Given the description of an element on the screen output the (x, y) to click on. 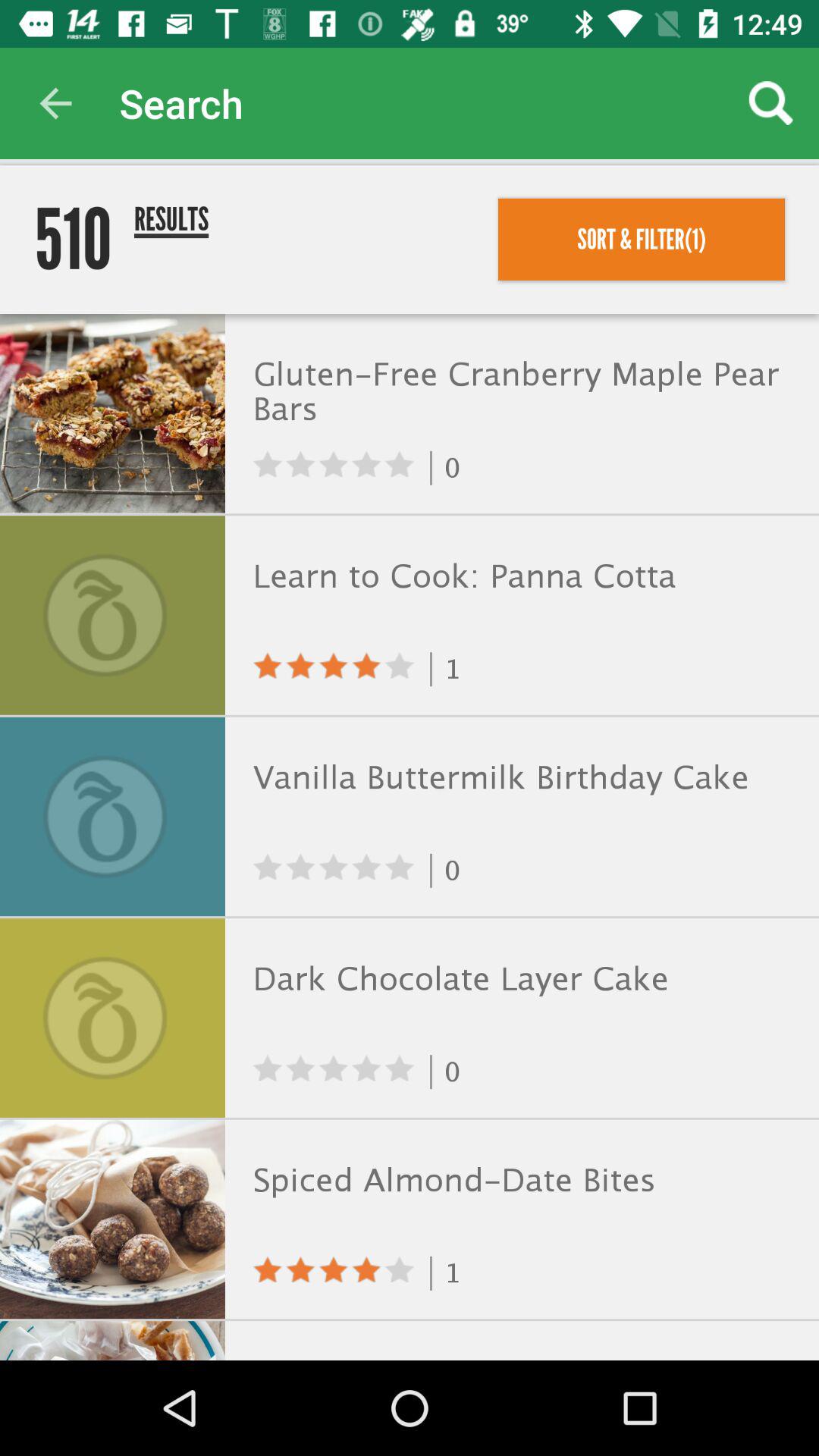
click icon next to search icon (55, 103)
